Given the description of an element on the screen output the (x, y) to click on. 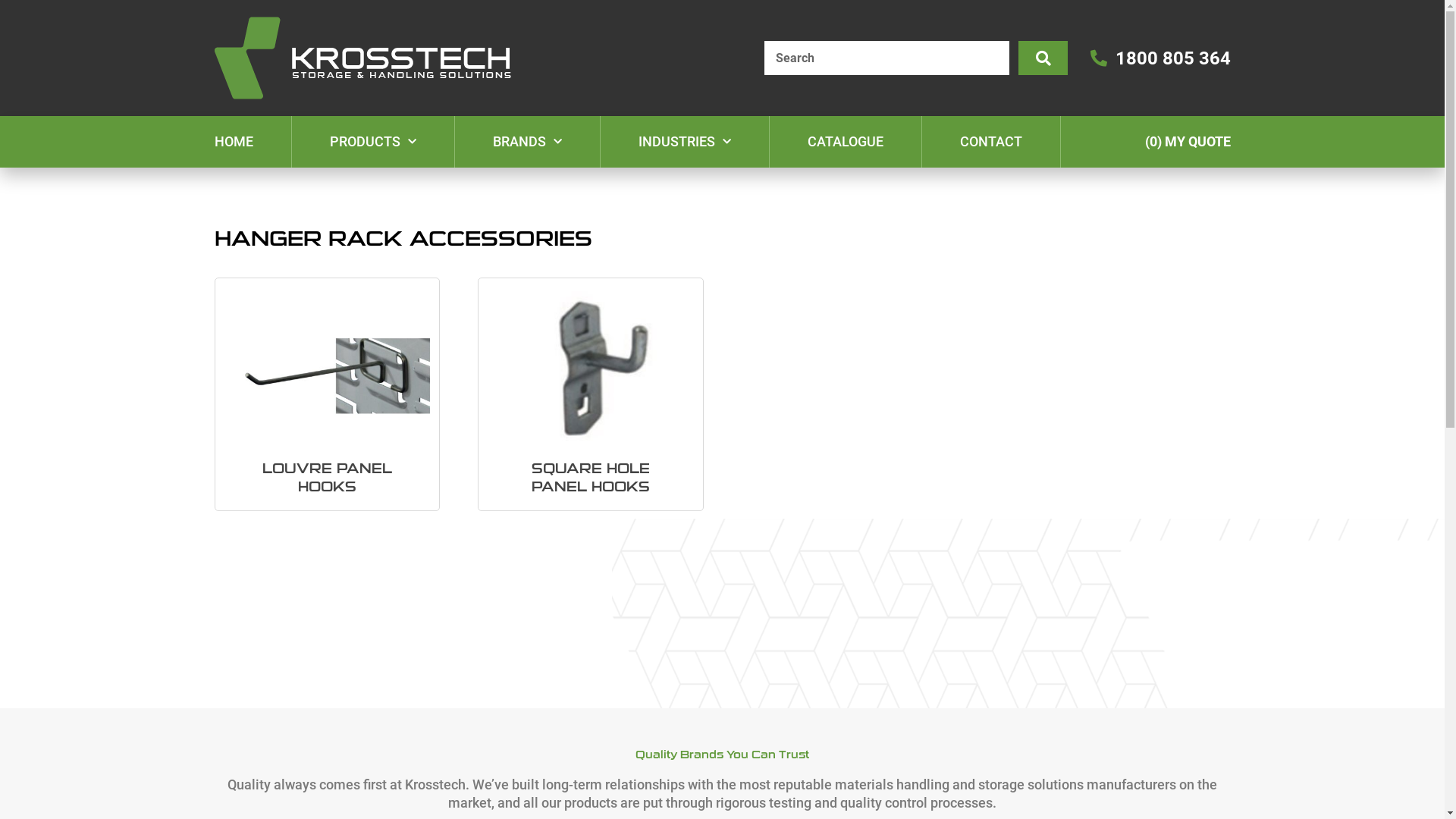
BRANDS Element type: text (527, 141)
HOME Element type: text (233, 141)
CONTACT Element type: text (990, 141)
INDUSTRIES Element type: text (684, 141)
CATALOGUE Element type: text (844, 141)
LOUVRE PANEL HOOKS Element type: text (327, 393)
(0 ) MY QUOTE Element type: text (1187, 141)
SQUARE HOLE PANEL HOOKS Element type: text (590, 393)
PRODUCTS Element type: text (372, 141)
1800 805 364 Element type: text (1160, 57)
